Given the description of an element on the screen output the (x, y) to click on. 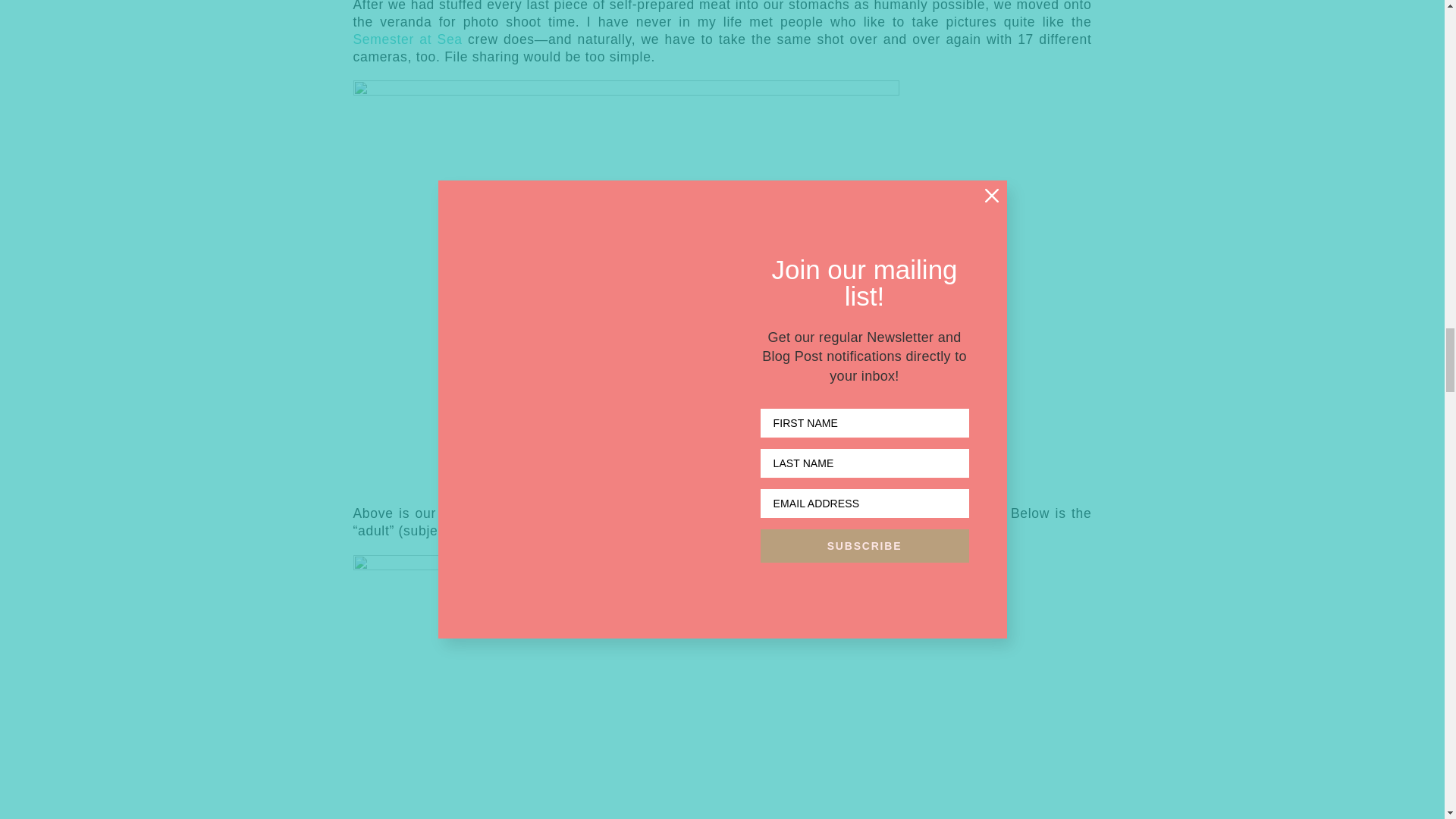
Semester at Sea (408, 38)
